Given the description of an element on the screen output the (x, y) to click on. 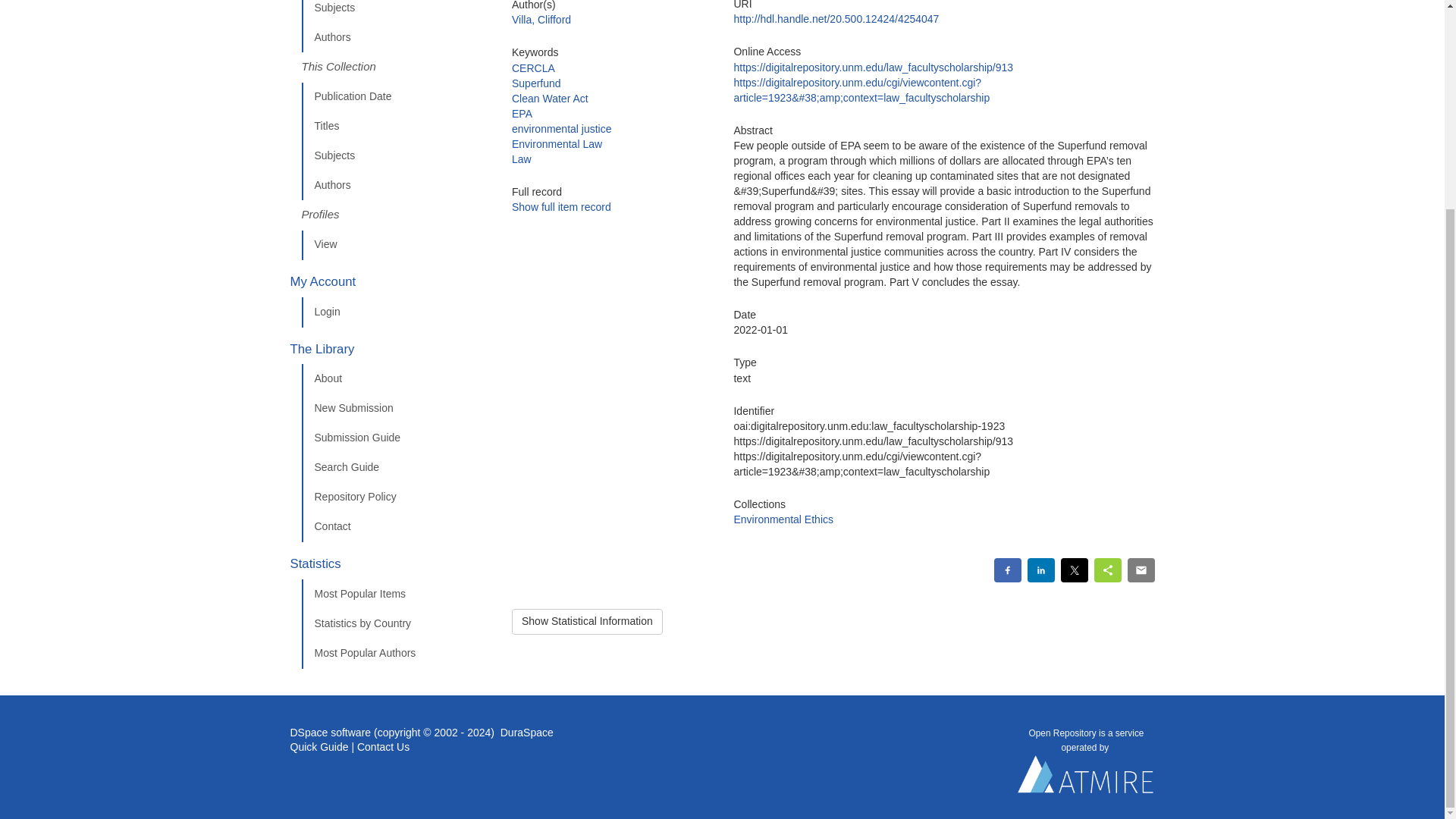
This Collection (395, 67)
Authors (395, 37)
Atmire NV (1085, 778)
Subjects (395, 11)
